Given the description of an element on the screen output the (x, y) to click on. 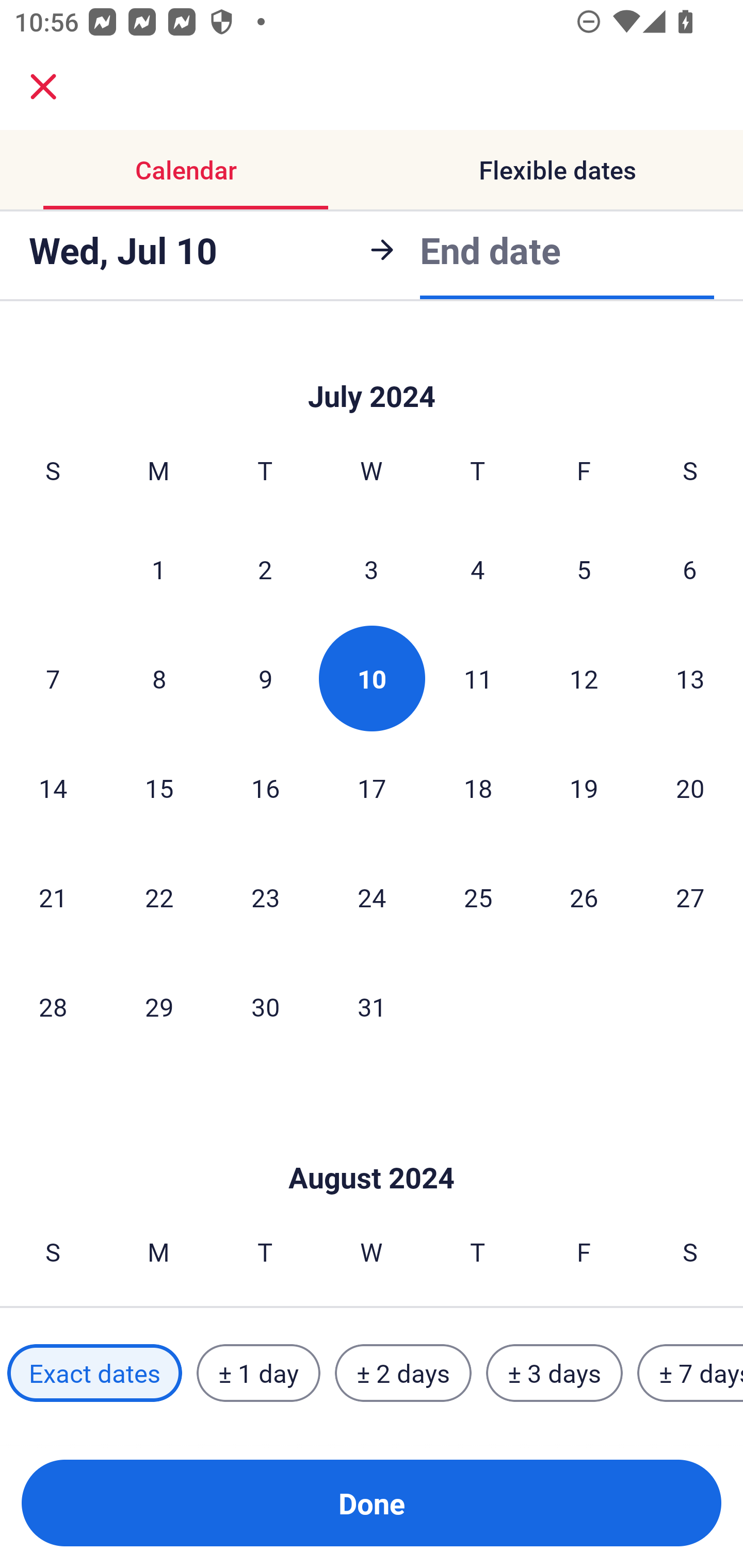
close. (43, 86)
Flexible dates (557, 170)
End date (489, 249)
Skip to Done (371, 369)
1 Monday, July 1, 2024 (158, 568)
2 Tuesday, July 2, 2024 (264, 568)
3 Wednesday, July 3, 2024 (371, 568)
4 Thursday, July 4, 2024 (477, 568)
5 Friday, July 5, 2024 (583, 568)
6 Saturday, July 6, 2024 (689, 568)
7 Sunday, July 7, 2024 (53, 677)
8 Monday, July 8, 2024 (159, 677)
9 Tuesday, July 9, 2024 (265, 677)
11 Thursday, July 11, 2024 (477, 677)
12 Friday, July 12, 2024 (584, 677)
13 Saturday, July 13, 2024 (690, 677)
14 Sunday, July 14, 2024 (53, 787)
15 Monday, July 15, 2024 (159, 787)
16 Tuesday, July 16, 2024 (265, 787)
17 Wednesday, July 17, 2024 (371, 787)
